Given the description of an element on the screen output the (x, y) to click on. 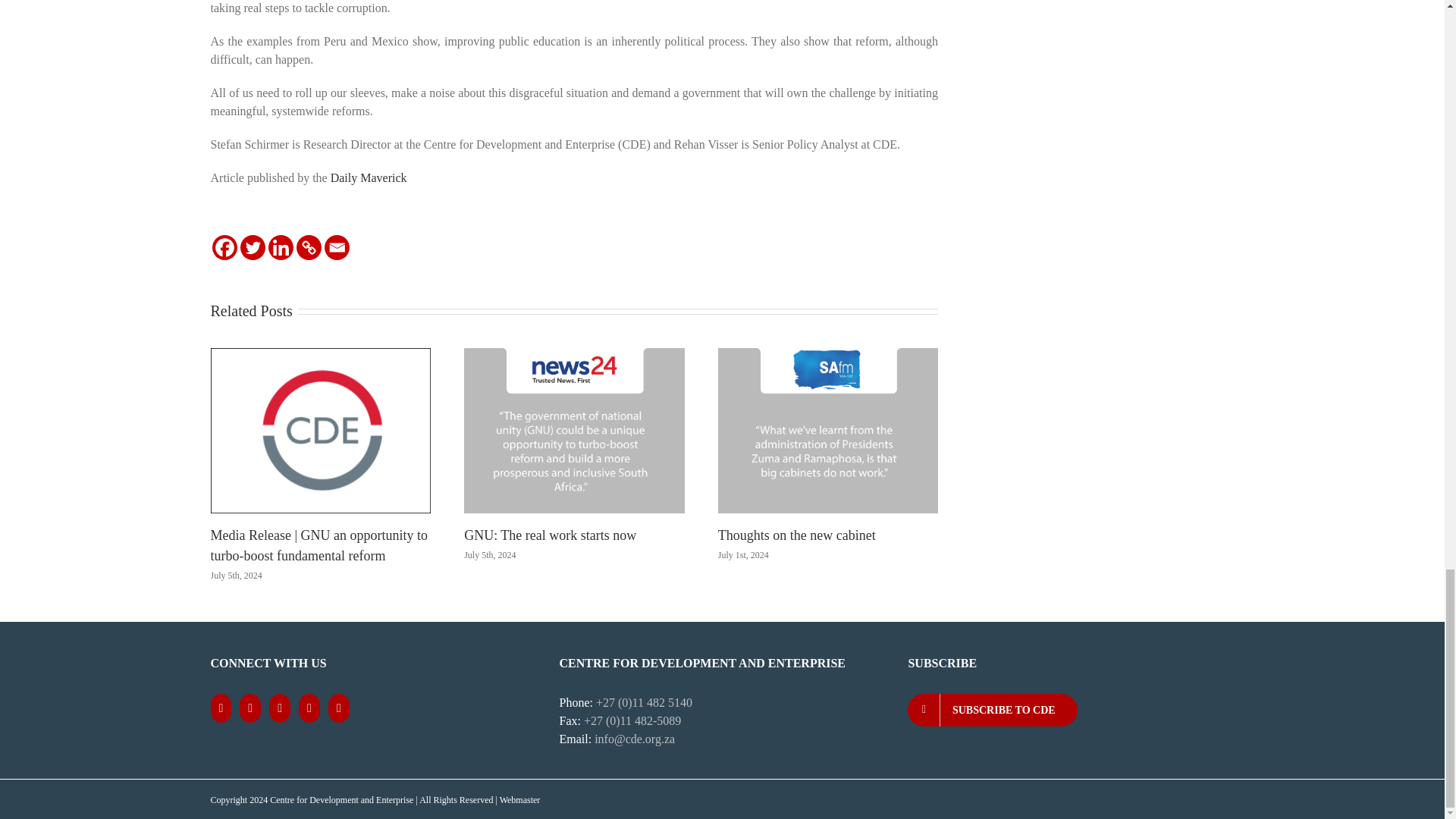
Thoughts on the new cabinet (796, 534)
Linkedin (280, 247)
Email (336, 247)
Twitter (252, 247)
Facebook (224, 247)
GNU: The real work starts now (550, 534)
Copy Link (307, 247)
